Given the description of an element on the screen output the (x, y) to click on. 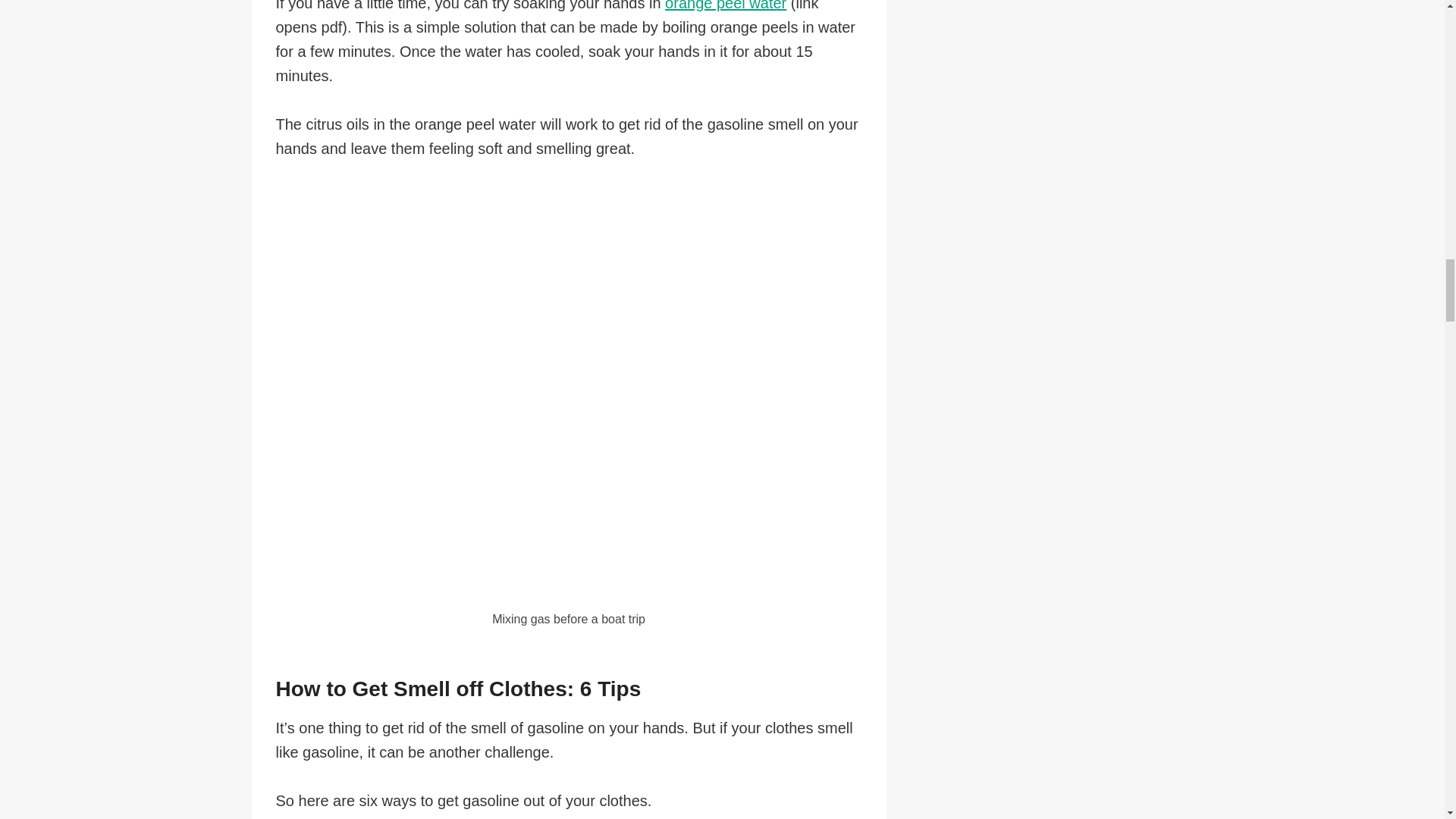
orange peel water (725, 5)
